Given the description of an element on the screen output the (x, y) to click on. 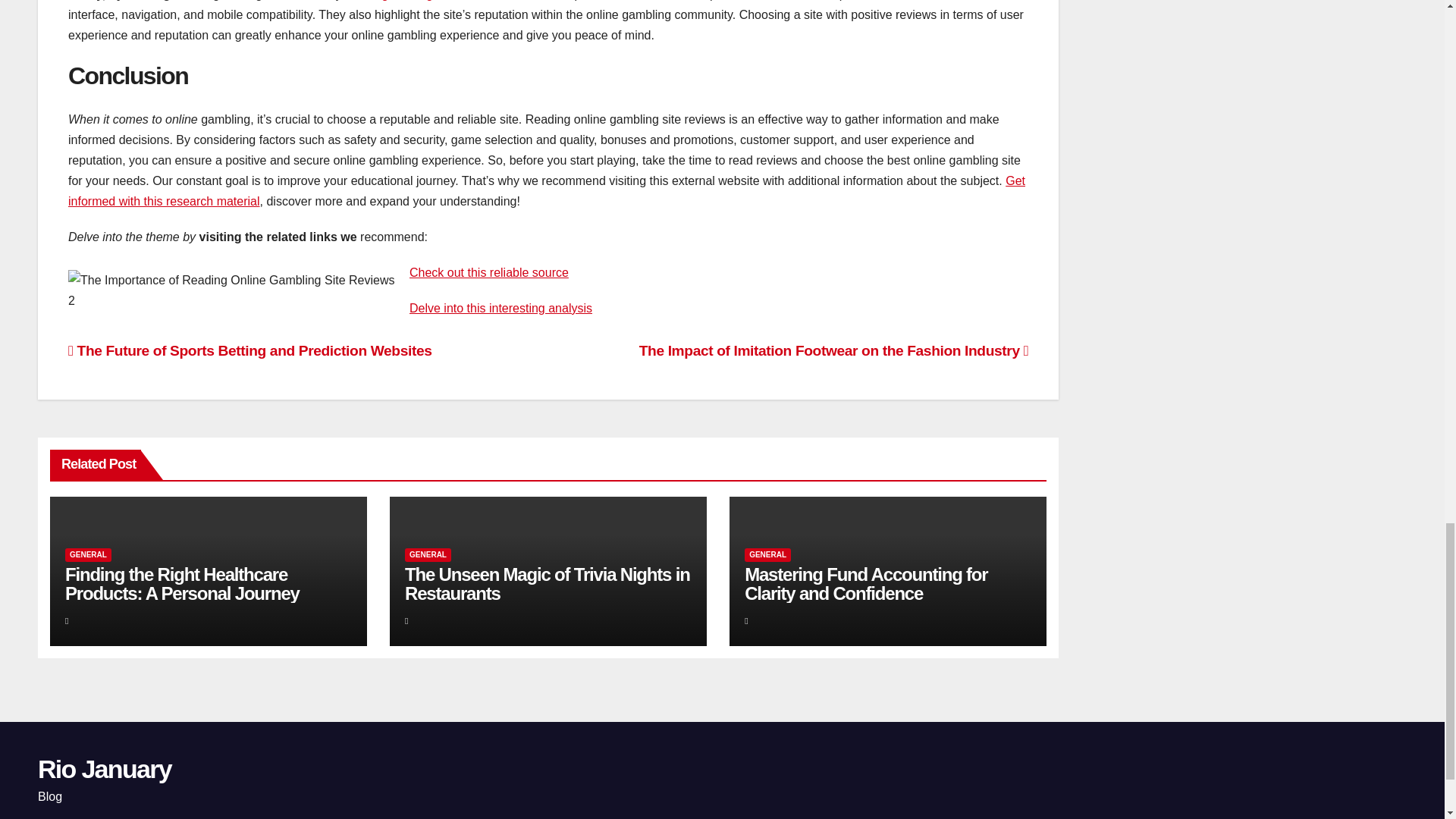
The Unseen Magic of Trivia Nights in Restaurants (547, 583)
The Future of Sports Betting and Prediction Websites (250, 350)
GENERAL (427, 554)
Check out this reliable source (489, 272)
Delve into this interesting analysis (500, 308)
Get informed with this research material (546, 191)
GENERAL (88, 554)
Mastering Fund Accounting for Clarity and Confidence (865, 583)
